Given the description of an element on the screen output the (x, y) to click on. 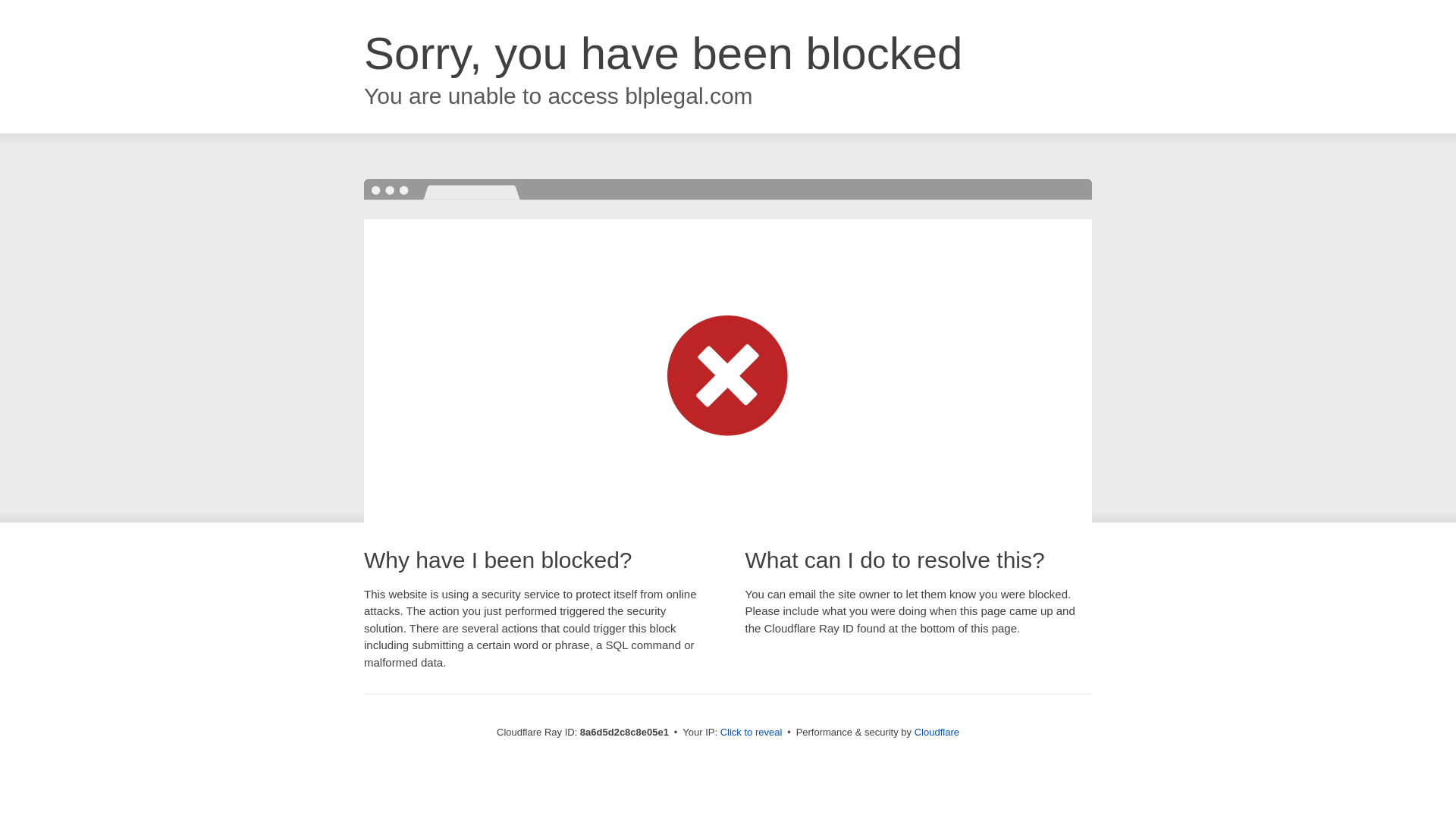
Click to reveal (751, 732)
Cloudflare (936, 731)
